Given the description of an element on the screen output the (x, y) to click on. 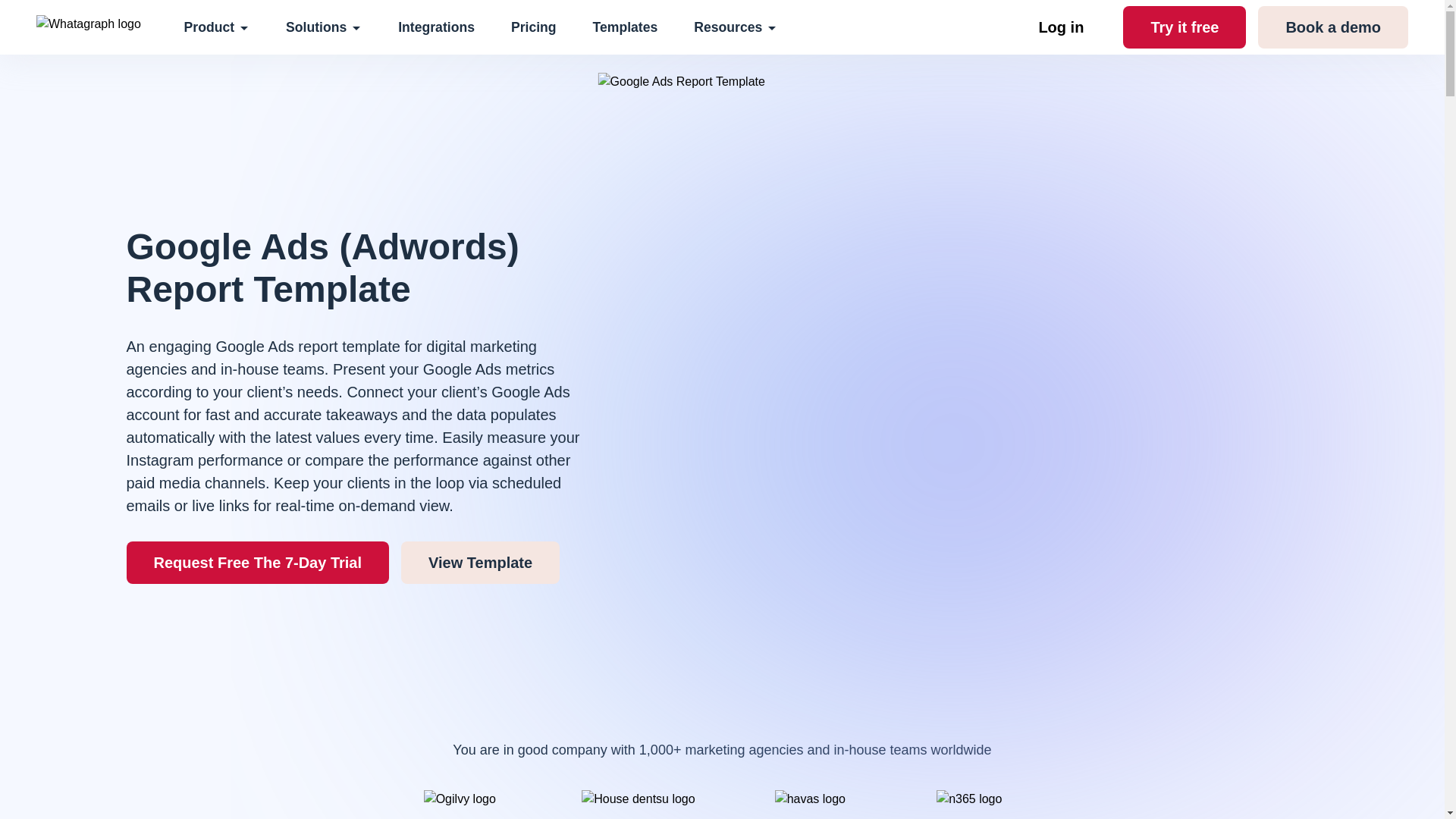
View Template (480, 562)
Log in (1060, 26)
Try it free (1184, 26)
Templates (625, 27)
Request Free The 7-Day Trial (256, 562)
Resources (735, 27)
Product (216, 27)
Integrations (435, 27)
Pricing (533, 27)
Solutions (323, 27)
